Given the description of an element on the screen output the (x, y) to click on. 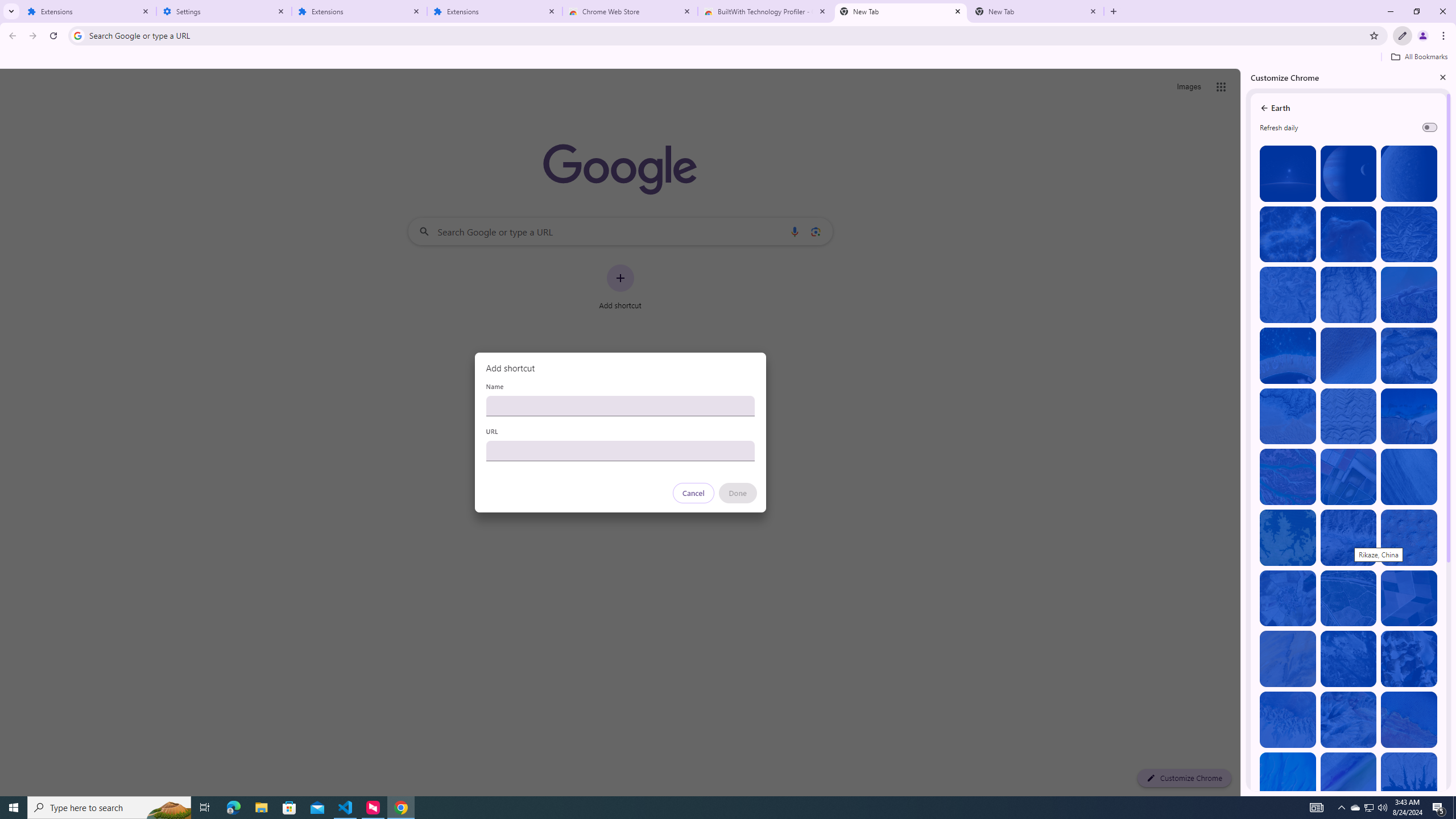
Kerman, Iran (1348, 416)
